Given the description of an element on the screen output the (x, y) to click on. 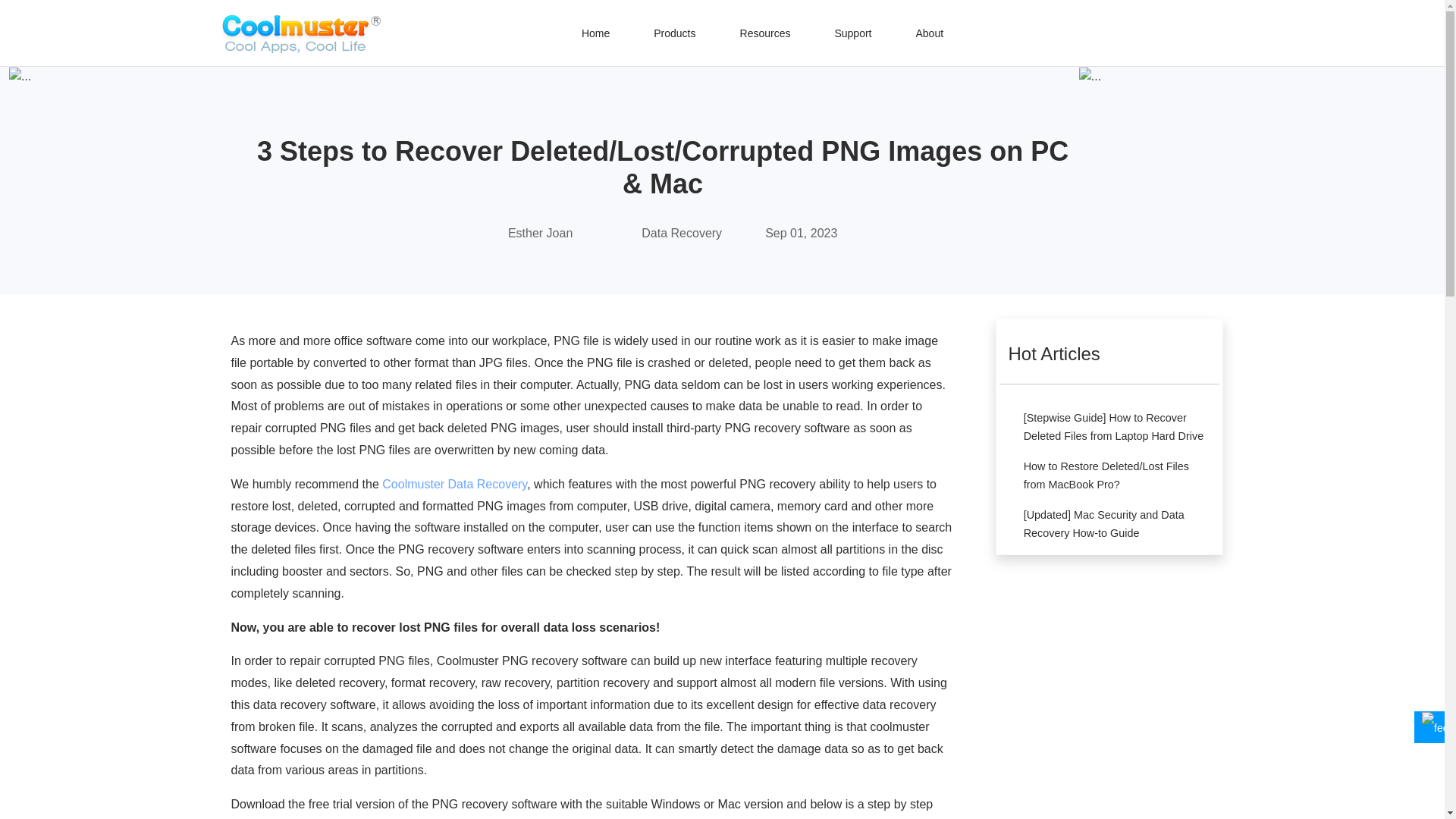
Home (595, 33)
